Given the description of an element on the screen output the (x, y) to click on. 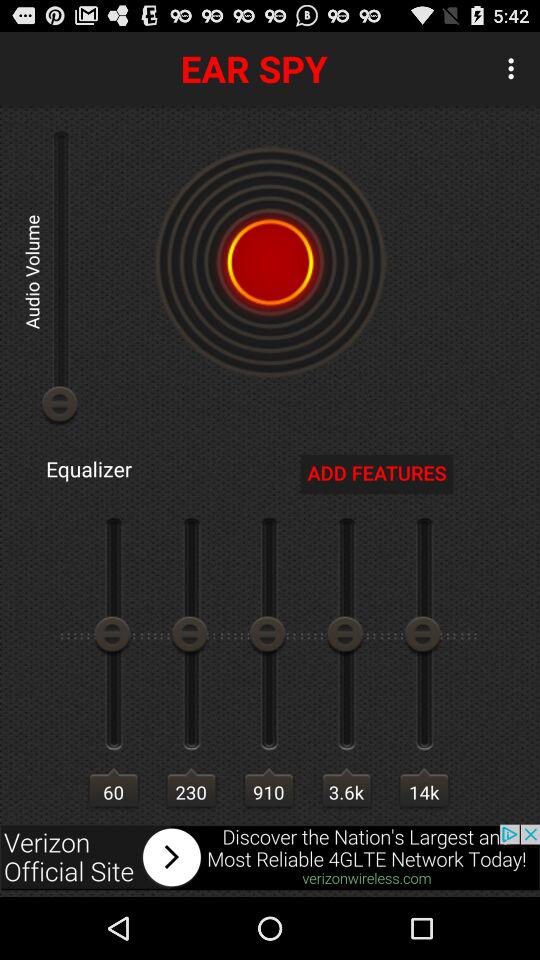
audio volume (269, 262)
